Given the description of an element on the screen output the (x, y) to click on. 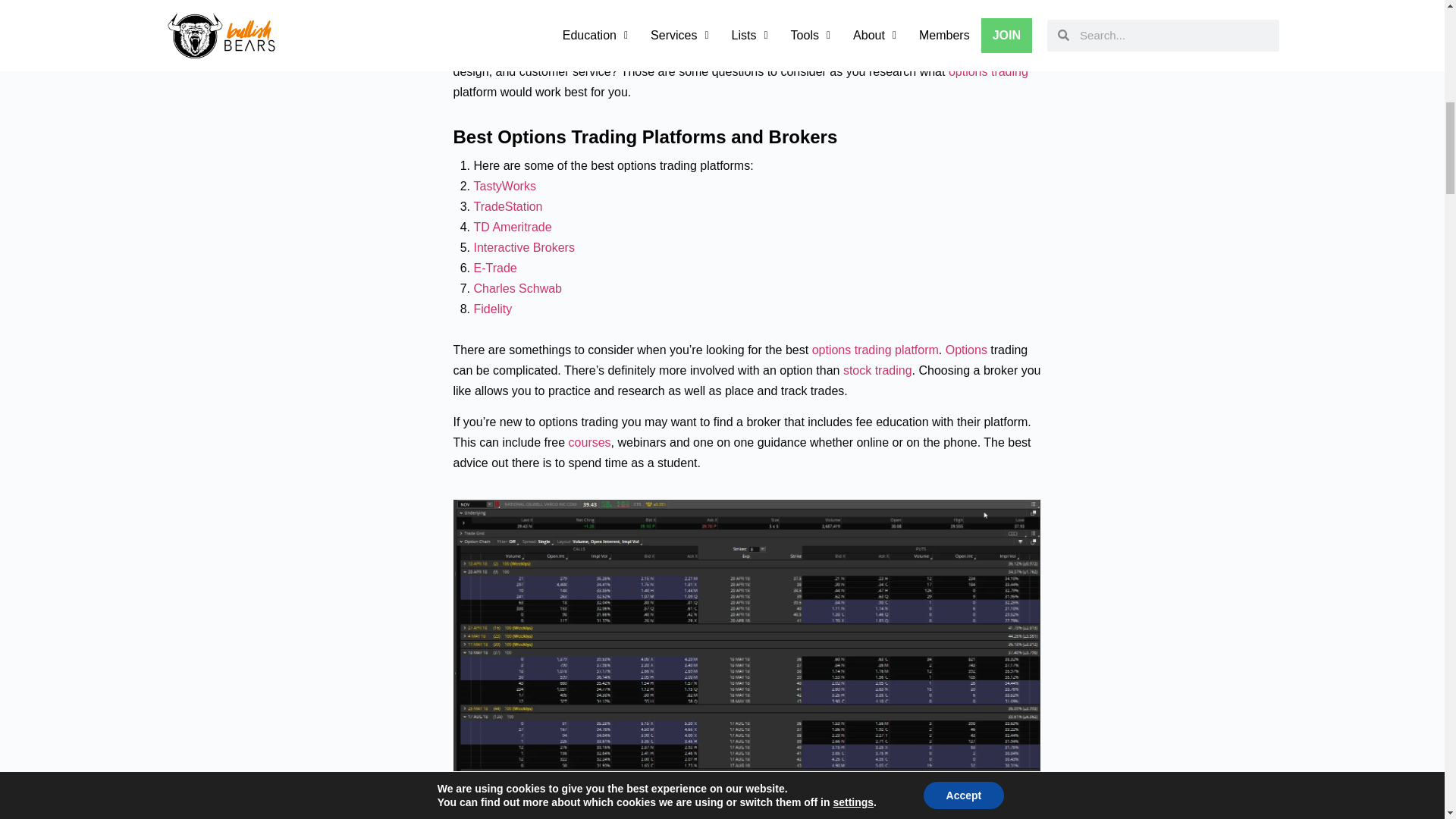
options trading (988, 71)
options trading platform (875, 349)
tools (1005, 51)
